Given the description of an element on the screen output the (x, y) to click on. 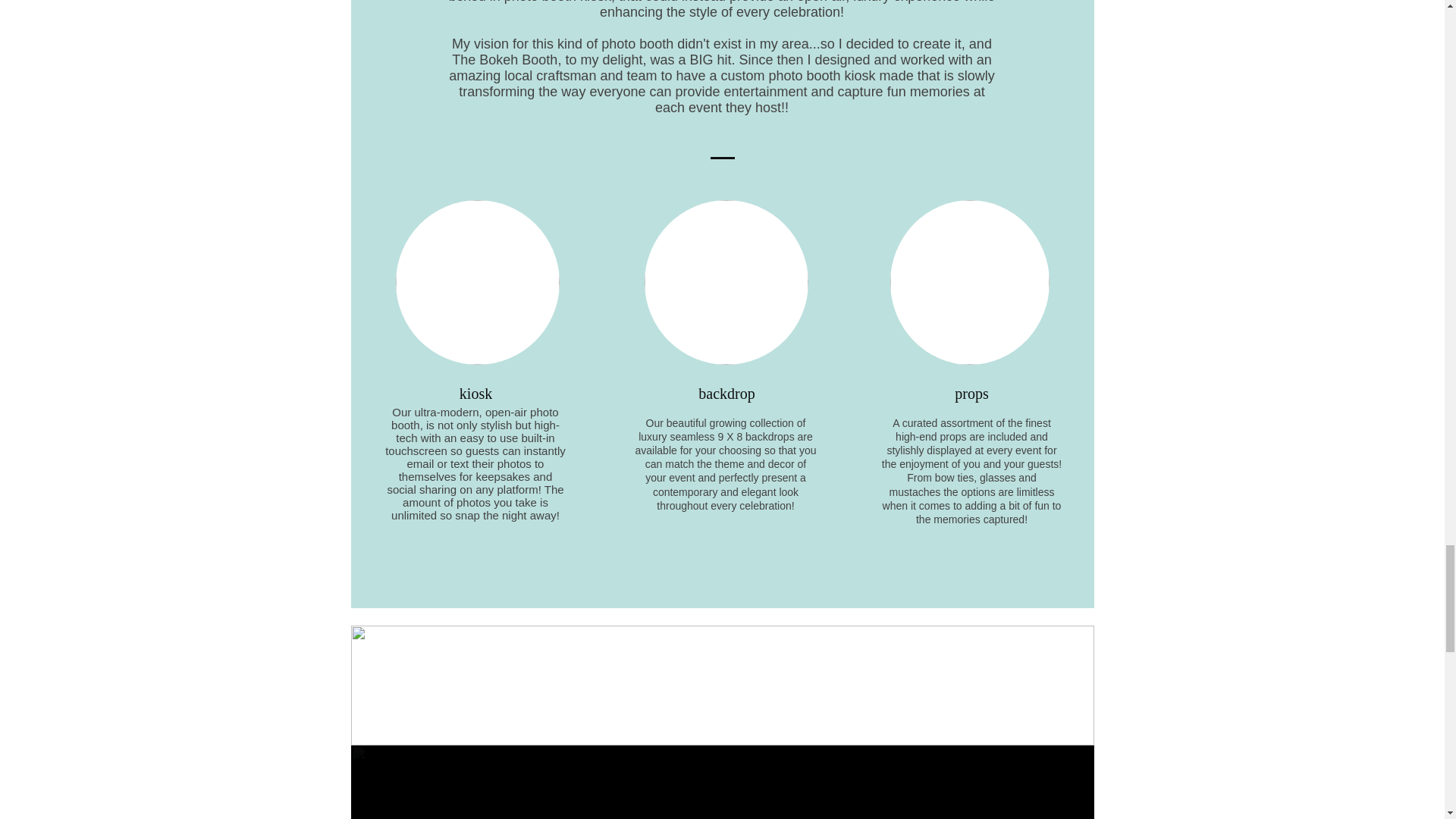
FullSizeRender-3.jpg (726, 281)
SB-ju9x2D-000044-2.jpg (969, 281)
